Given the description of an element on the screen output the (x, y) to click on. 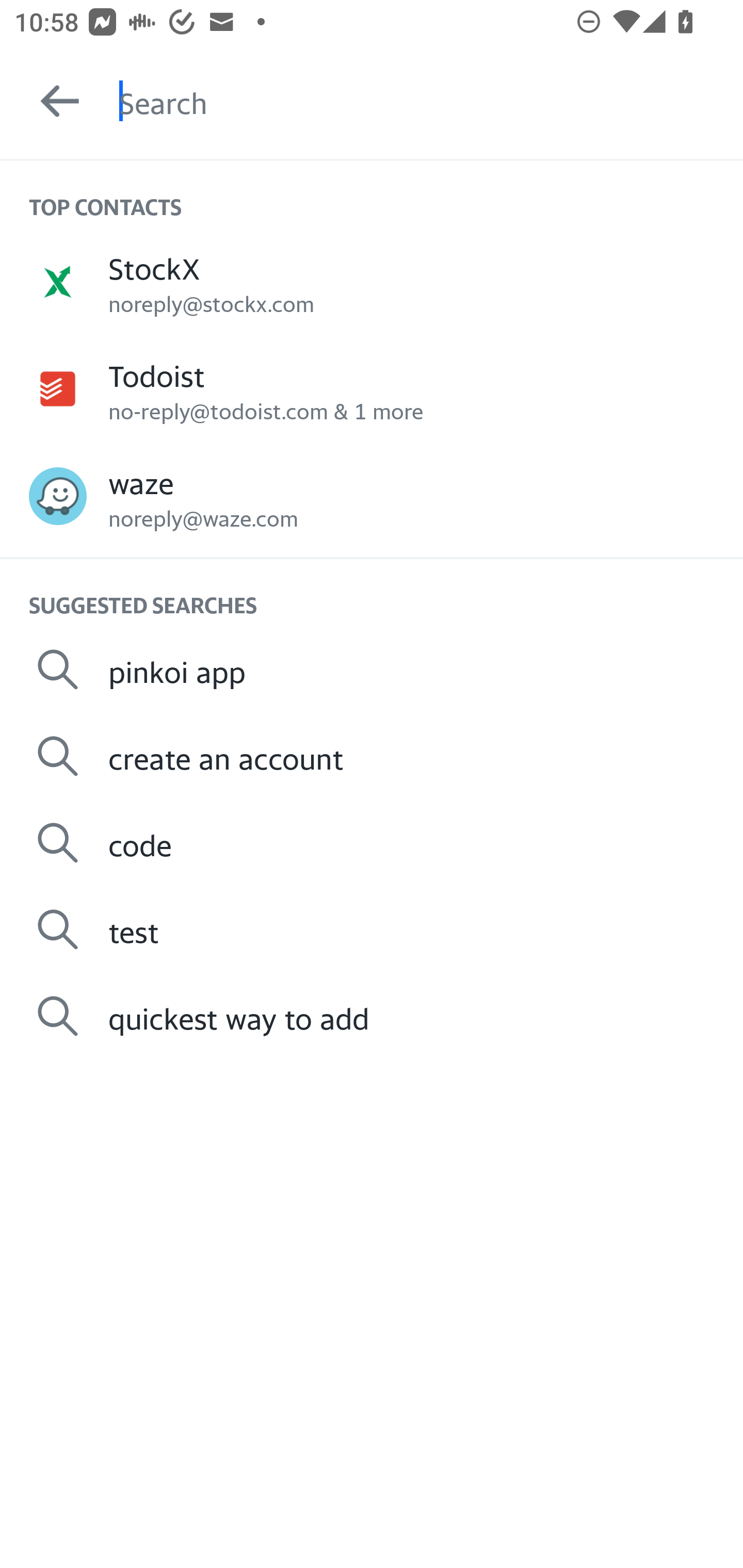
Back (50, 101)
Search (430, 101)
Top contacts StockX noreply@stockx.com (371, 281)
Top contacts Todoist no-reply@todoist.com & 1 more (371, 388)
Top contacts waze noreply@waze.com (371, 496)
Suggested searches pinkoi app (371, 669)
Suggested searches create an account (371, 756)
Suggested searches code (371, 842)
Suggested searches test (371, 928)
Suggested searches quickest way to add (371, 1015)
